Given the description of an element on the screen output the (x, y) to click on. 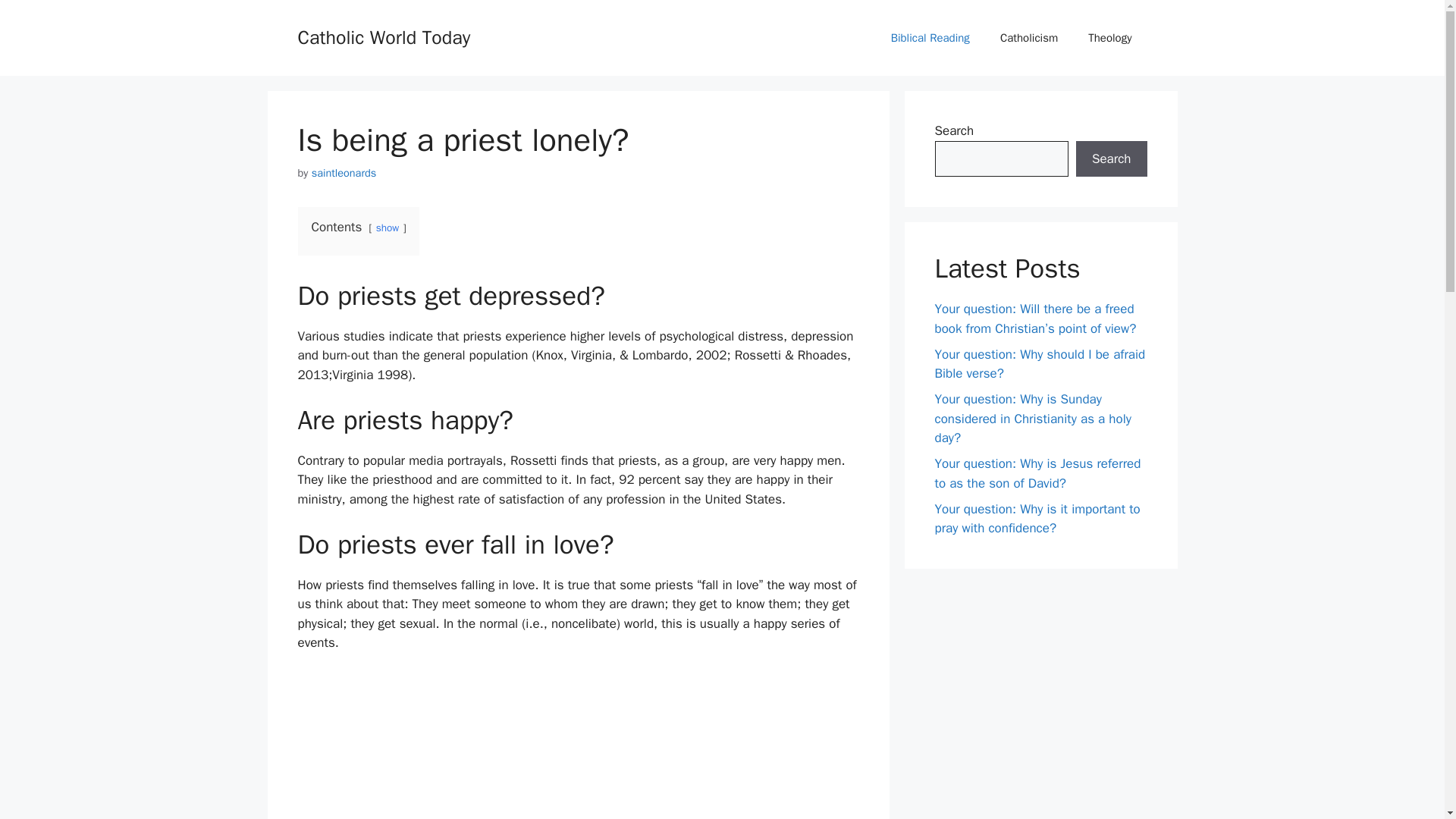
Your question: Why is it important to pray with confidence? (1037, 518)
Search (1111, 158)
Biblical Reading (930, 37)
saintleonards (344, 172)
show (386, 227)
Your question: Why should I be afraid Bible verse? (1039, 363)
Theology (1110, 37)
Catholicism (1029, 37)
Your question: Why is Jesus referred to as the son of David? (1037, 473)
View all posts by saintleonards (344, 172)
Catholic World Today (383, 37)
